Given the description of an element on the screen output the (x, y) to click on. 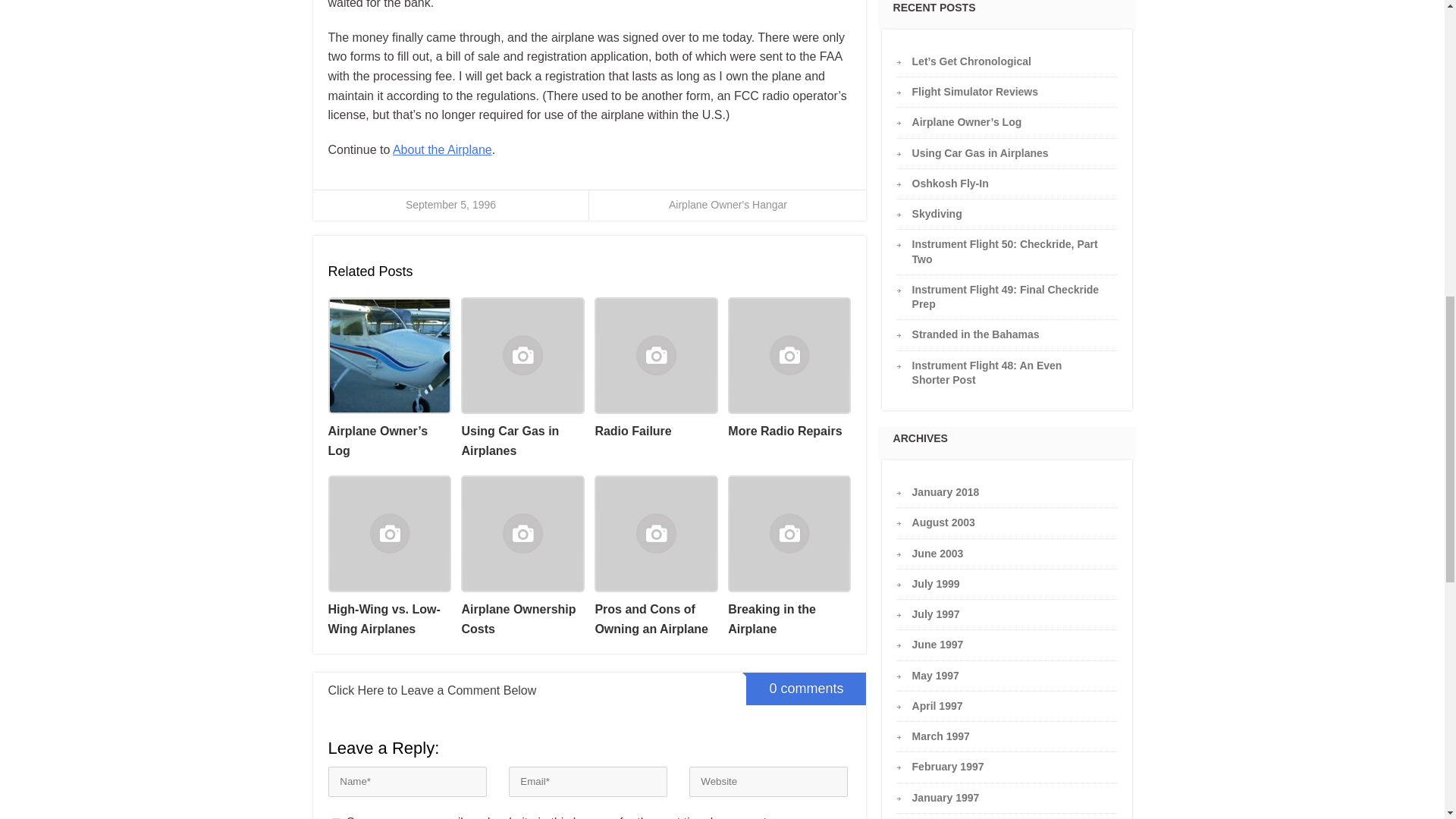
Using Car Gas in Airplanes (522, 378)
Airplane Ownership Costs (522, 556)
Pros and Cons of Owning an Airplane (655, 556)
About the Airplane (442, 149)
Radio Failure (655, 369)
High-Wing vs. Low-Wing Airplanes (388, 556)
Breaking in the Airplane (789, 556)
More Radio Repairs (789, 369)
Airplane Owner's Hangar (727, 204)
